Given the description of an element on the screen output the (x, y) to click on. 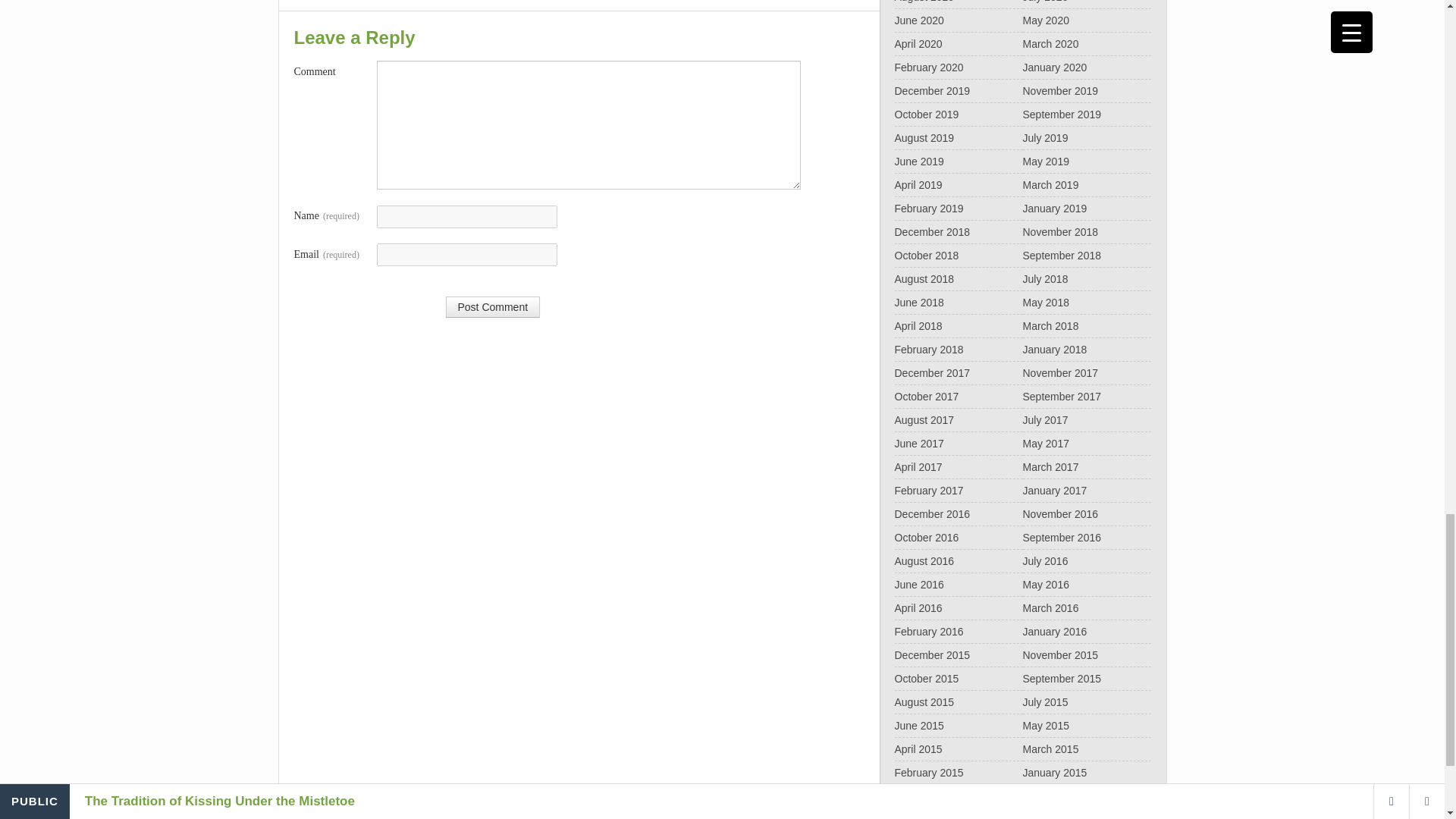
Post Comment (492, 306)
Post Comment (492, 306)
